Given the description of an element on the screen output the (x, y) to click on. 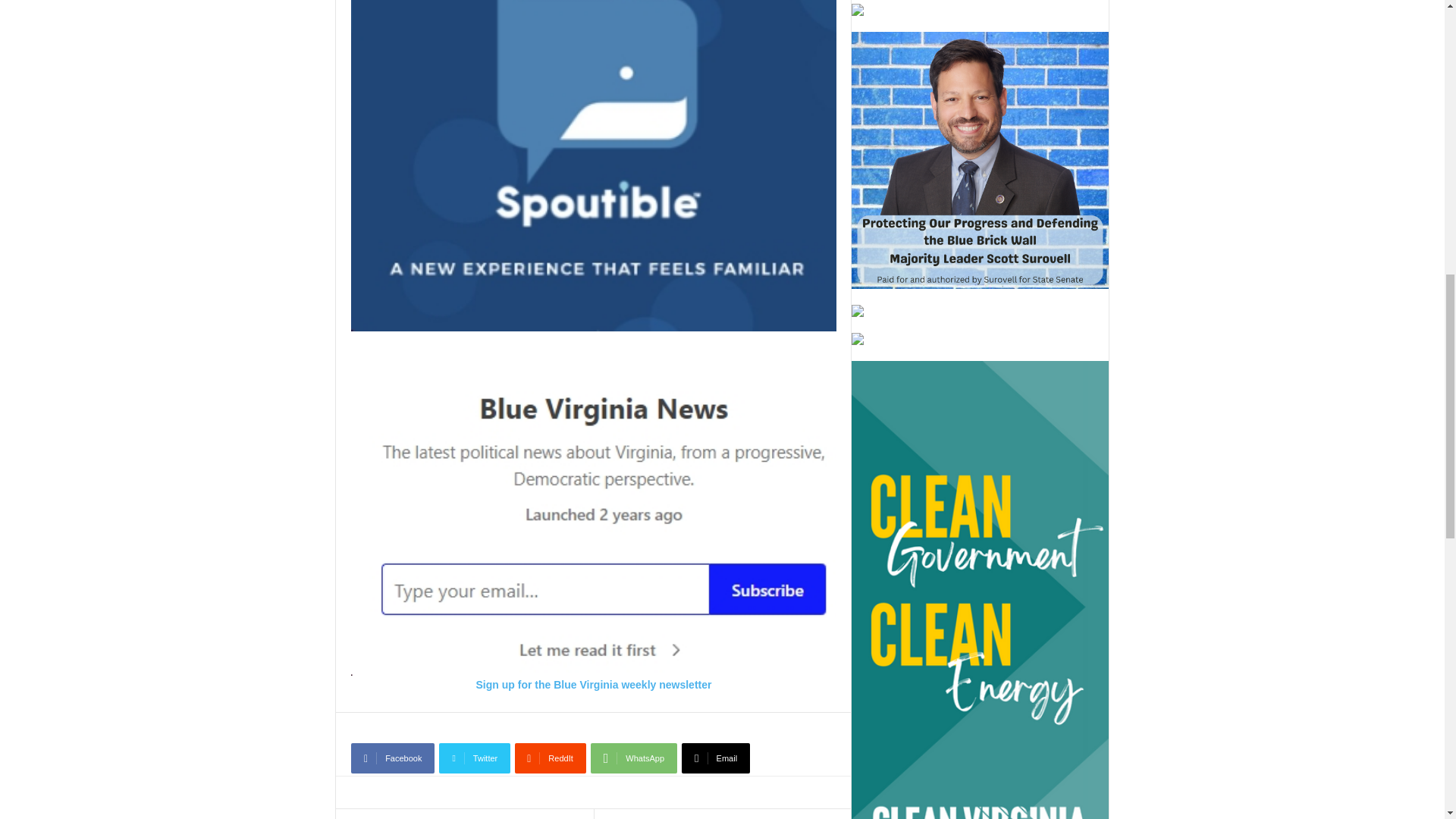
Email (715, 757)
ReddIt (550, 757)
Facebook (391, 757)
WhatsApp (634, 757)
Facebook (391, 757)
WhatsApp (634, 757)
Twitter (475, 757)
Email (715, 757)
Twitter (475, 757)
ReddIt (550, 757)
